Given the description of an element on the screen output the (x, y) to click on. 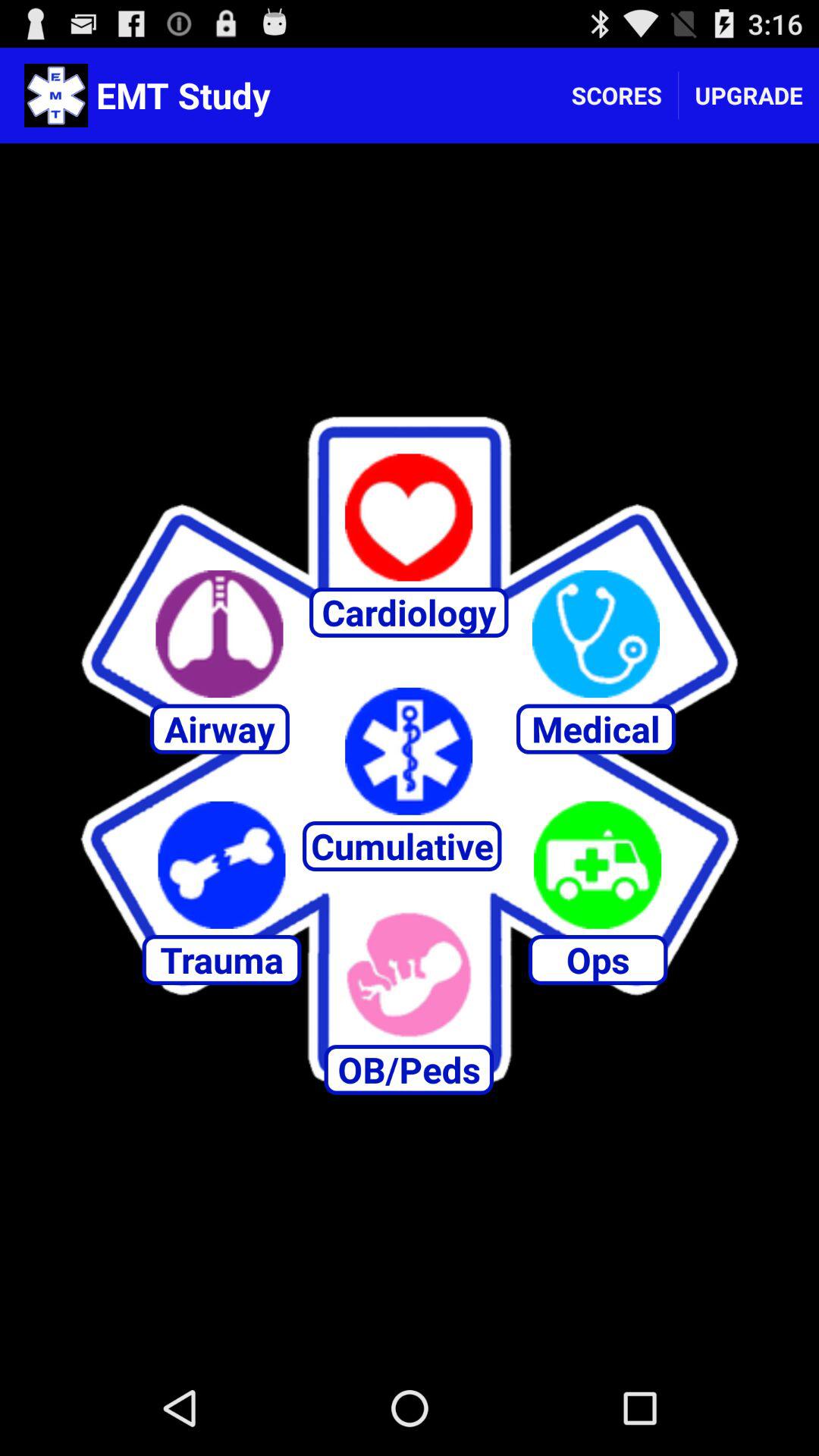
click to ops icon (597, 864)
